Given the description of an element on the screen output the (x, y) to click on. 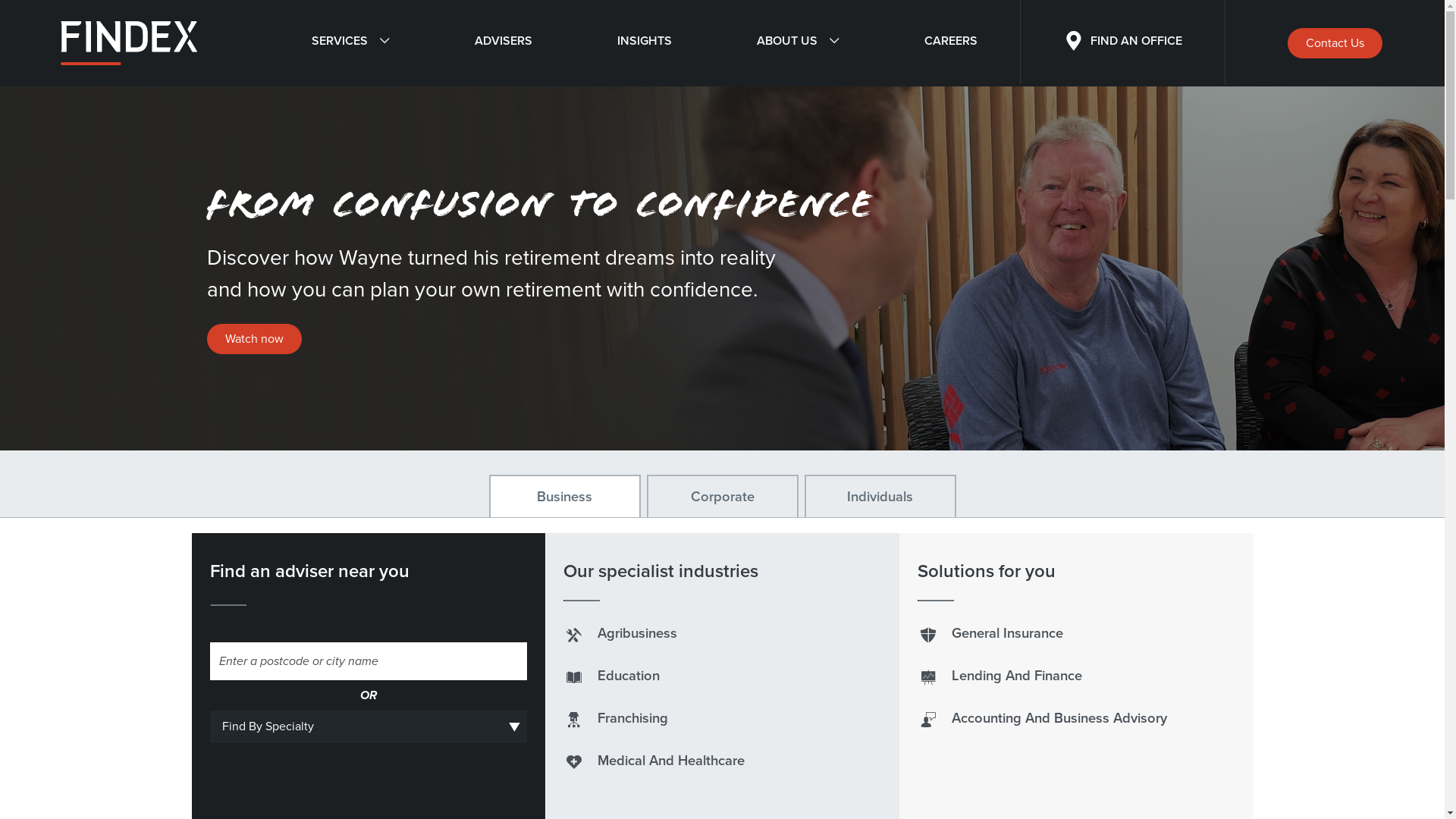
Contact Us Element type: text (1334, 43)
Franchising Element type: text (615, 717)
ABOUT US Element type: text (797, 43)
Business Element type: text (564, 495)
Lending And Finance Element type: text (999, 675)
Agribusiness Element type: text (620, 632)
General Insurance Element type: text (990, 632)
ADVISERS Element type: text (503, 43)
SERVICES Element type: text (350, 43)
Individuals Element type: text (879, 495)
Education Element type: text (611, 675)
FIND AN OFFICE Element type: text (1122, 43)
Medical And Healthcare Element type: text (653, 760)
Corporate Element type: text (721, 495)
CAREERS Element type: text (950, 43)
Accounting And Business Advisory Element type: text (1042, 717)
Watch now Element type: text (253, 338)
INSIGHTS Element type: text (644, 43)
